Given the description of an element on the screen output the (x, y) to click on. 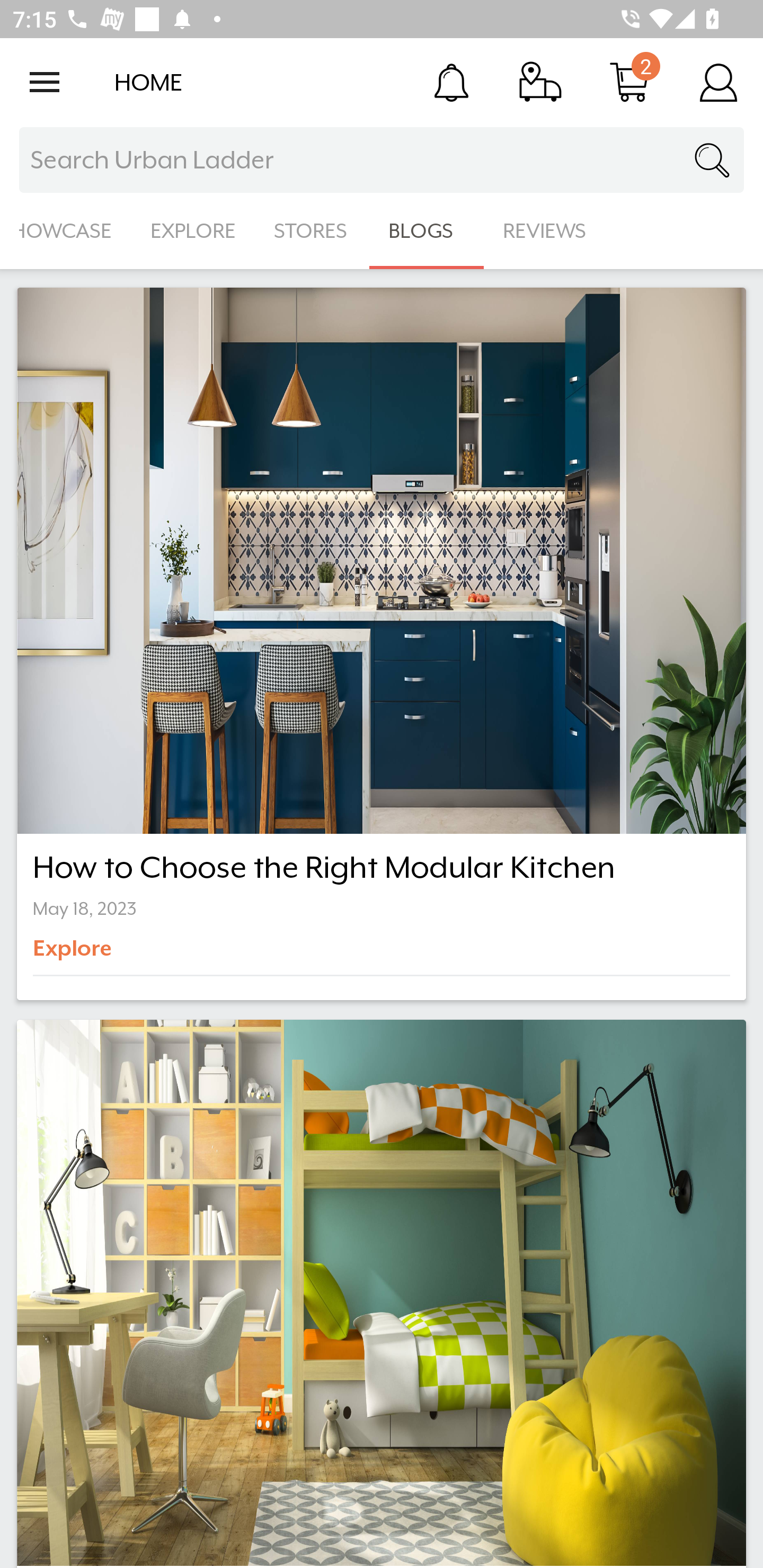
Open navigation drawer (44, 82)
Notification (450, 81)
Track Order (540, 81)
Cart (629, 81)
Account Details (718, 81)
Search Urban Ladder  (381, 159)
SHOWCASE (65, 230)
EXPLORE (192, 230)
STORES (311, 230)
BLOGS (426, 230)
REVIEWS (544, 230)
Explore (102, 954)
